Given the description of an element on the screen output the (x, y) to click on. 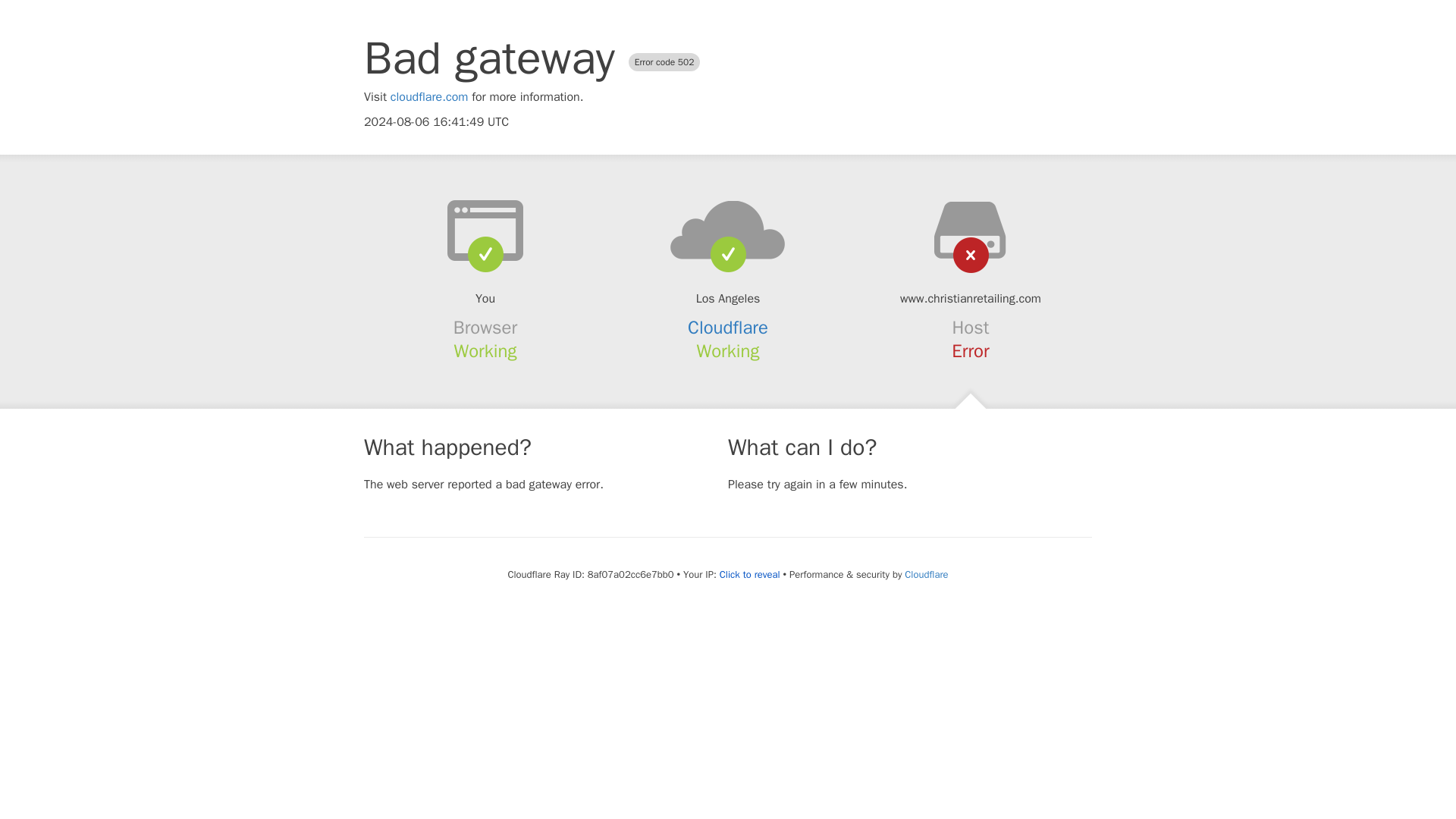
Cloudflare (925, 574)
cloudflare.com (429, 96)
Click to reveal (749, 574)
Cloudflare (727, 327)
